Given the description of an element on the screen output the (x, y) to click on. 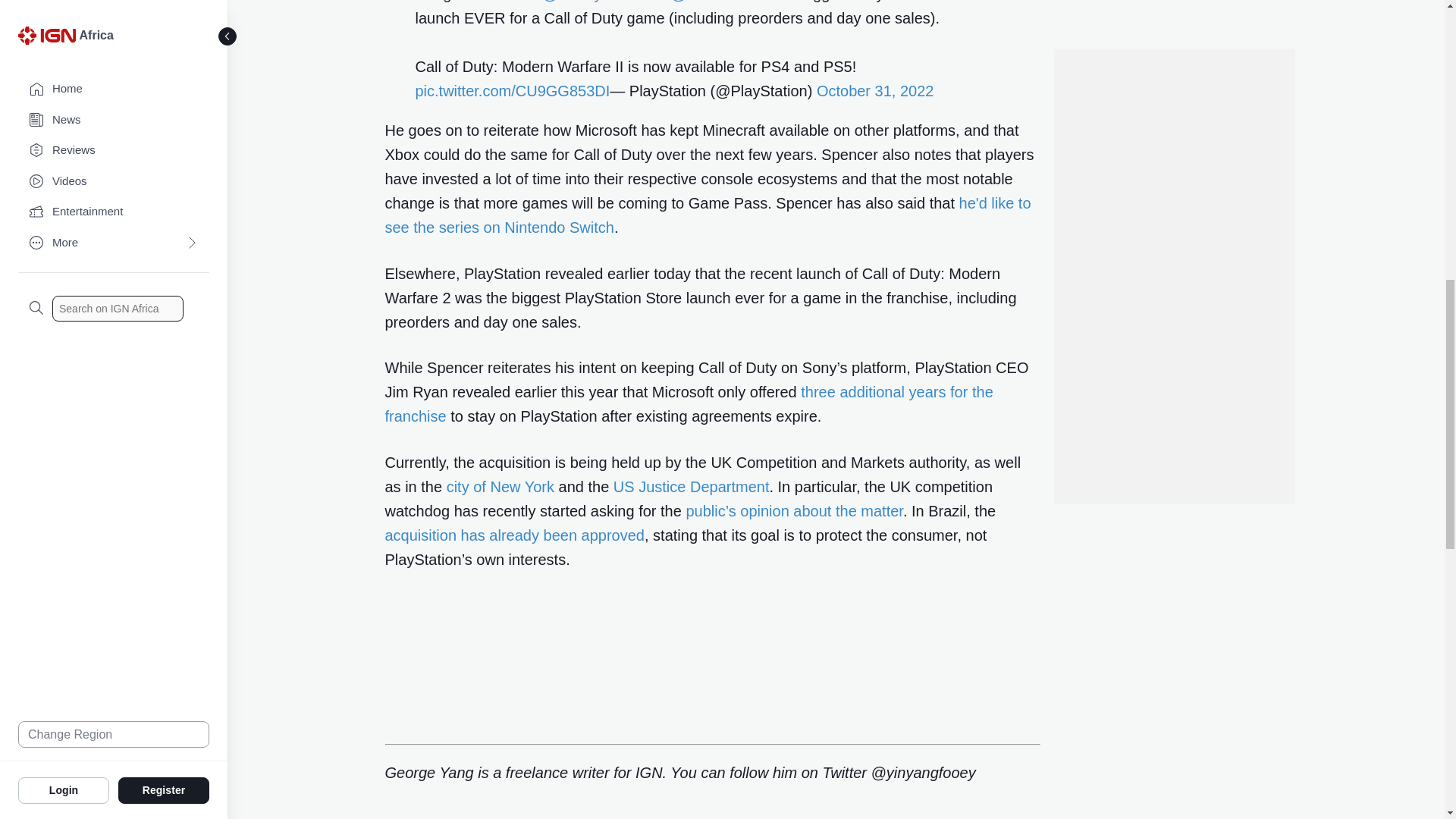
October 31, 2022 (875, 90)
